Given the description of an element on the screen output the (x, y) to click on. 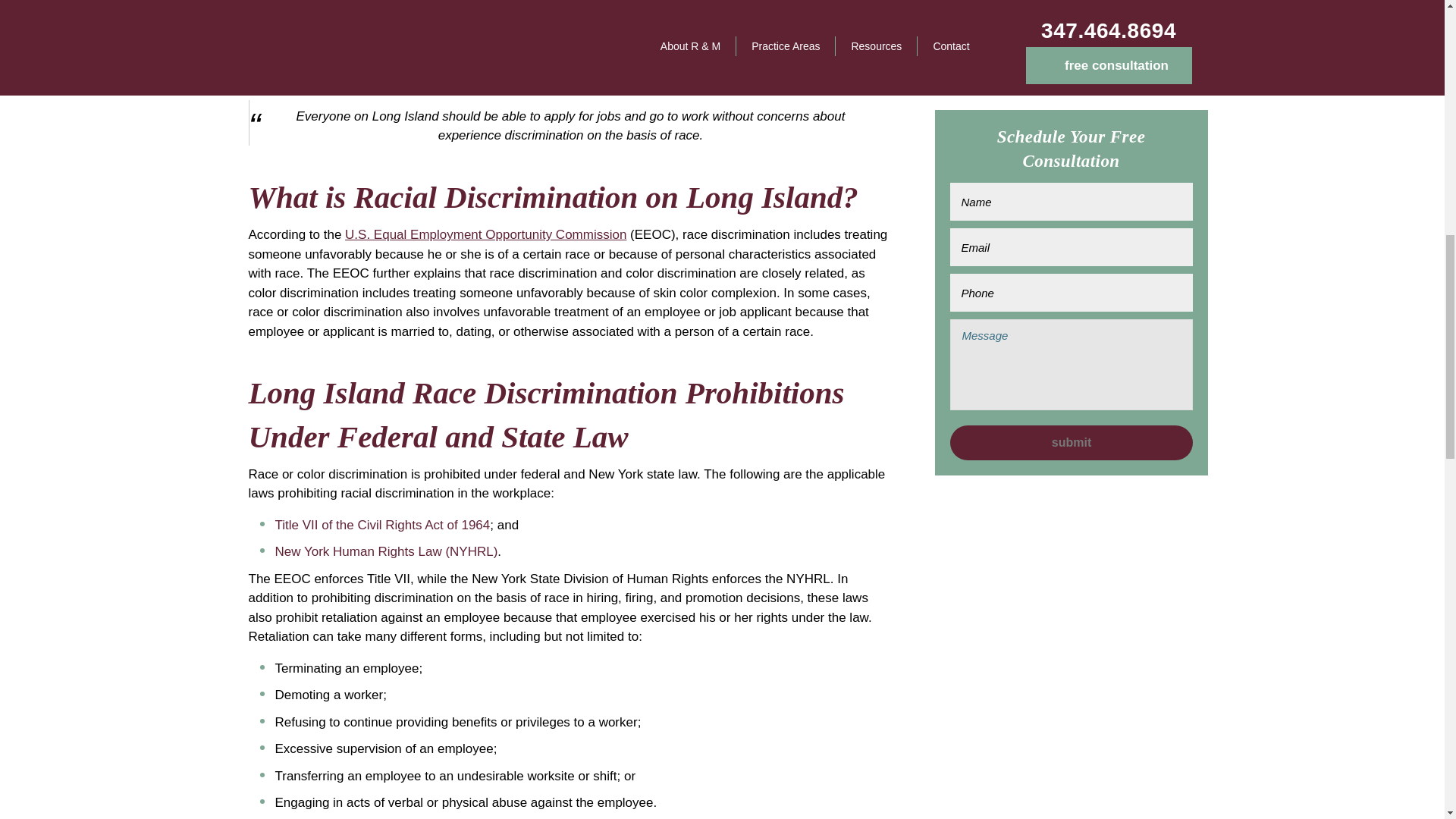
submit (1070, 184)
